Given the description of an element on the screen output the (x, y) to click on. 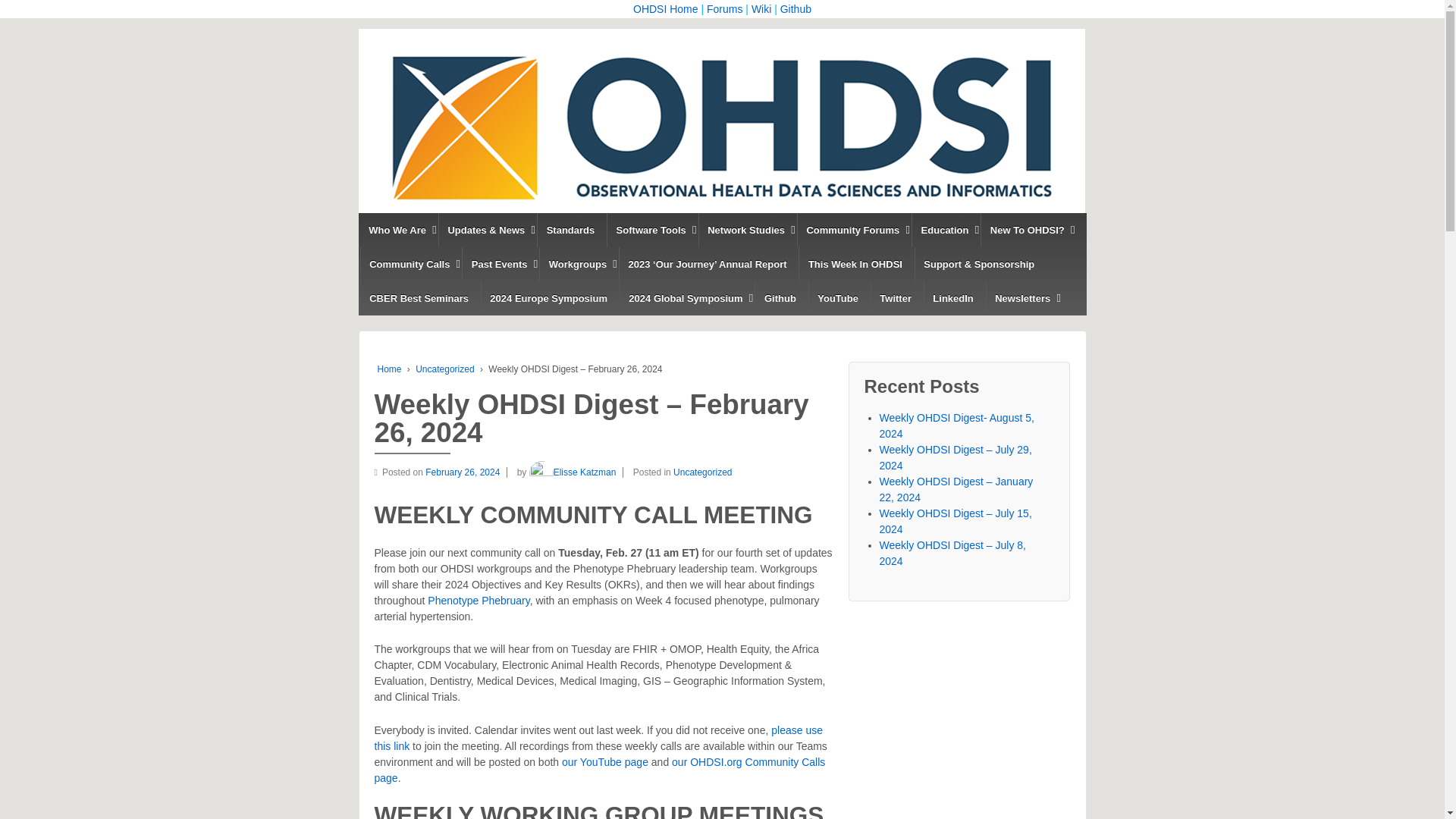
Education (943, 229)
Wiki (761, 9)
Github (795, 9)
Forums (724, 9)
OHDSI Home (665, 9)
Who We Are (396, 229)
New To OHDSI? (1026, 229)
Standards (570, 229)
Software Tools (651, 229)
Community Forums (852, 229)
Network Studies (745, 229)
View all posts by Elisse Katzman (572, 471)
